Given the description of an element on the screen output the (x, y) to click on. 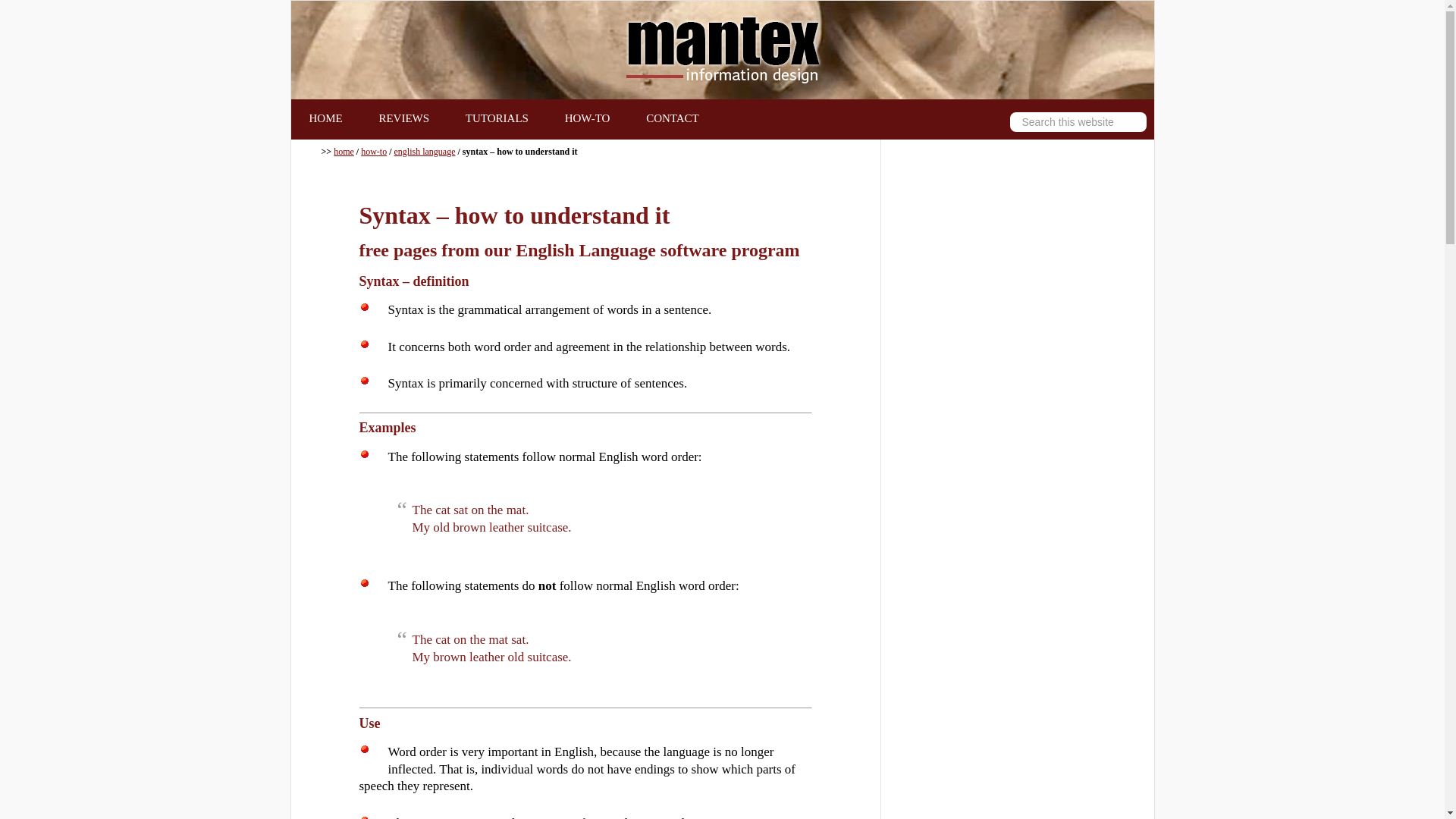
HOME (326, 118)
english language (424, 151)
HOW-TO (587, 118)
redbtn (364, 816)
redbtn (364, 344)
redbtn (364, 583)
REVIEWS (402, 118)
MANTEX (722, 49)
redbtn (364, 748)
redbtn (364, 380)
how-to (374, 151)
home (343, 151)
TUTORIALS (496, 118)
